Given the description of an element on the screen output the (x, y) to click on. 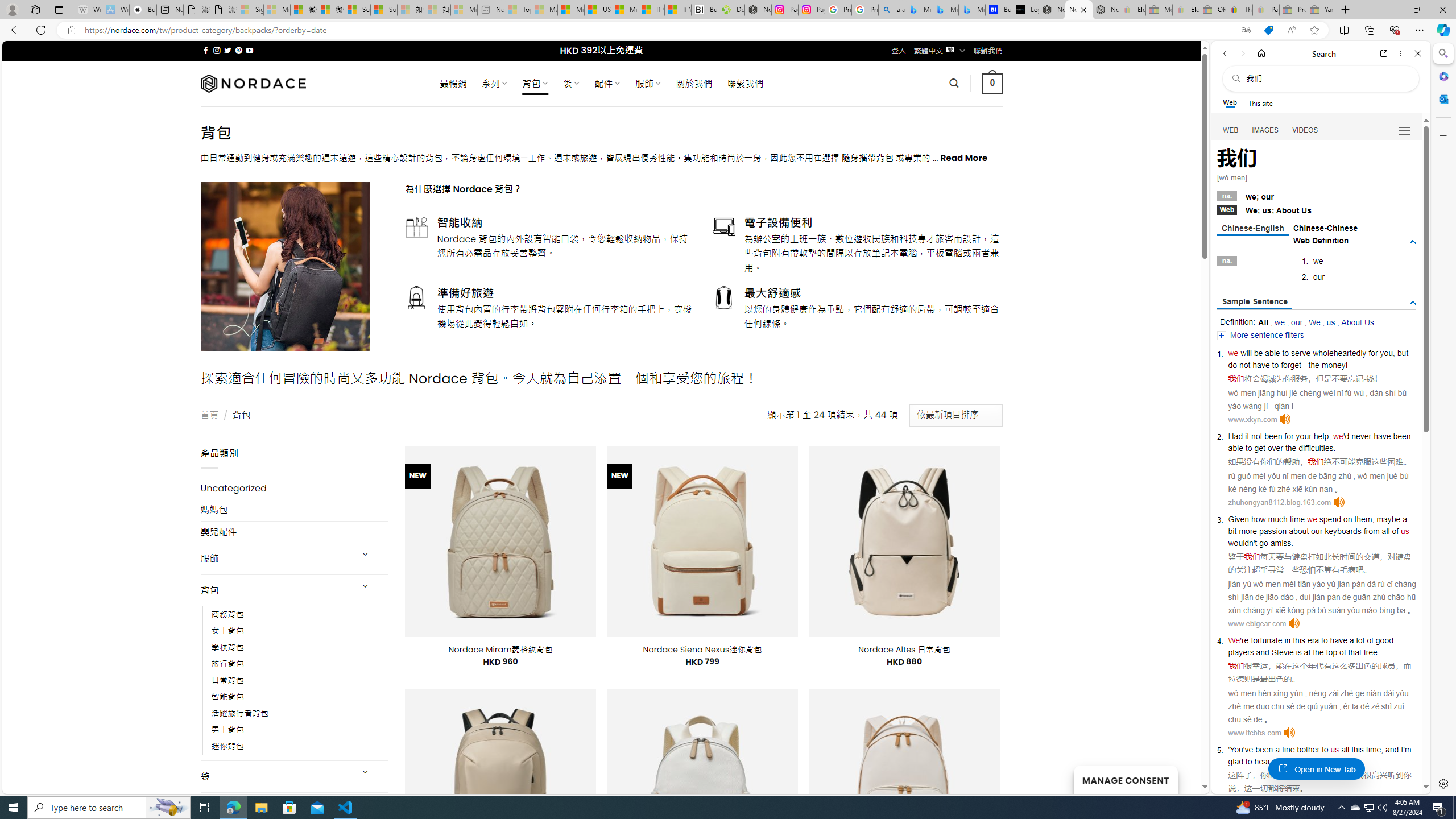
Follow on YouTube (249, 50)
Chinese-Chinese (1325, 227)
